Given the description of an element on the screen output the (x, y) to click on. 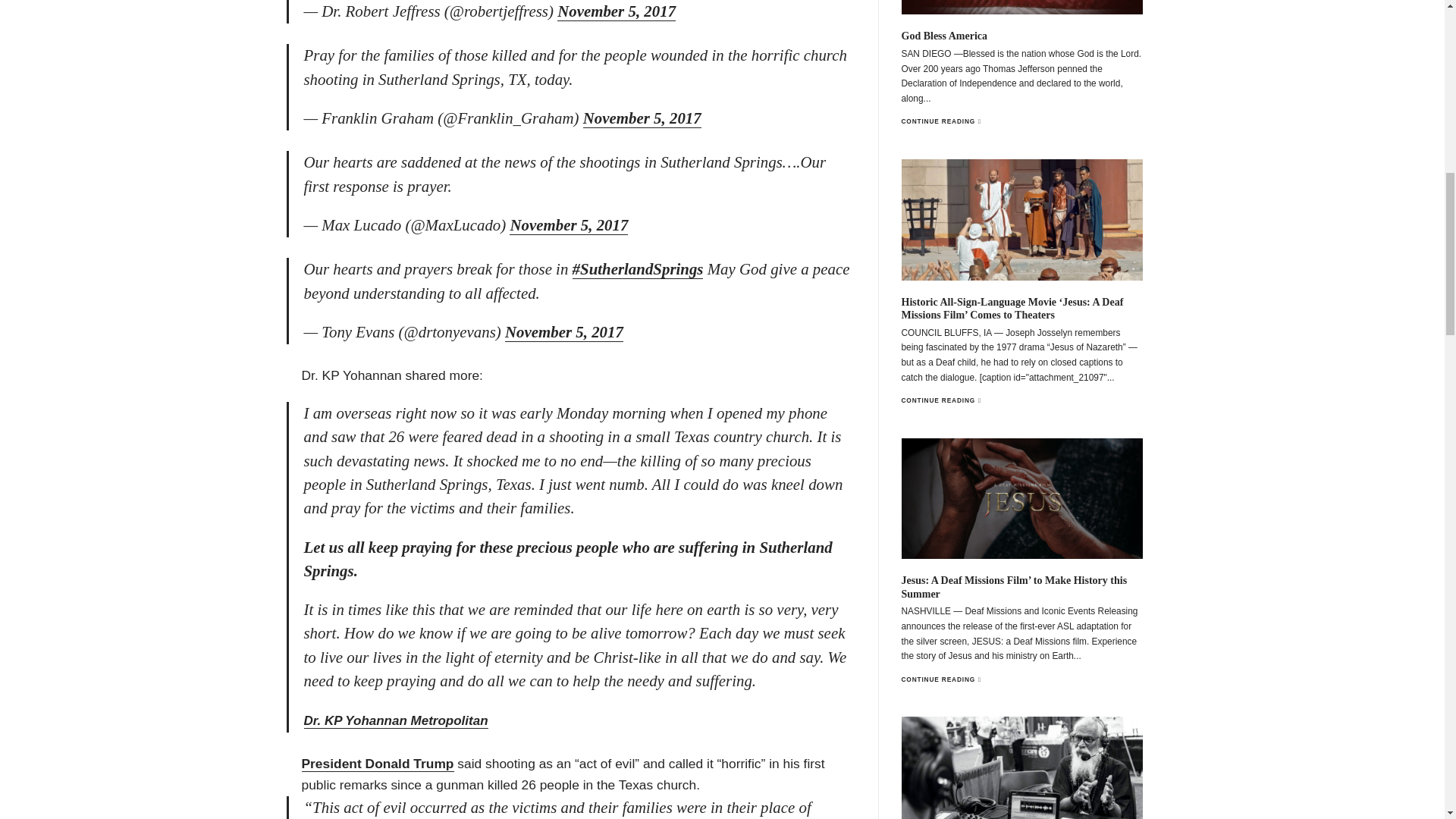
November 5, 2017 (568, 225)
Dr. KP Yohannan Metropolitan (394, 720)
November 5, 2017 (616, 11)
November 5, 2017 (564, 332)
President Donald Trump (377, 763)
November 5, 2017 (642, 117)
